Given the description of an element on the screen output the (x, y) to click on. 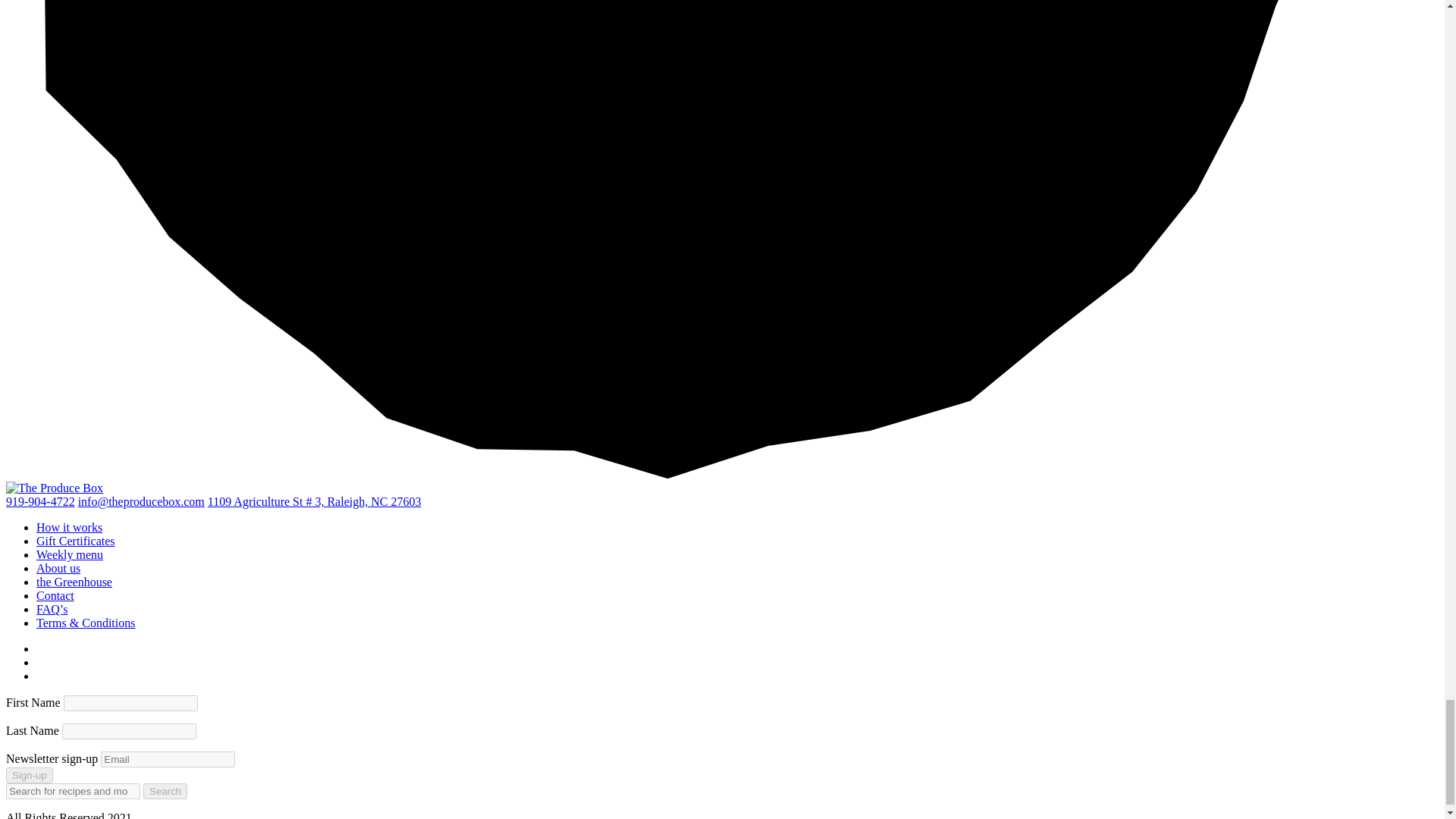
Weekly menu (69, 554)
Search (164, 790)
About us (58, 567)
Gift Certificates (75, 540)
919-904-4722 (40, 501)
Sign-up (28, 774)
How it works (68, 526)
Contact (55, 594)
the Greenhouse (74, 581)
Sign-up (28, 774)
